Given the description of an element on the screen output the (x, y) to click on. 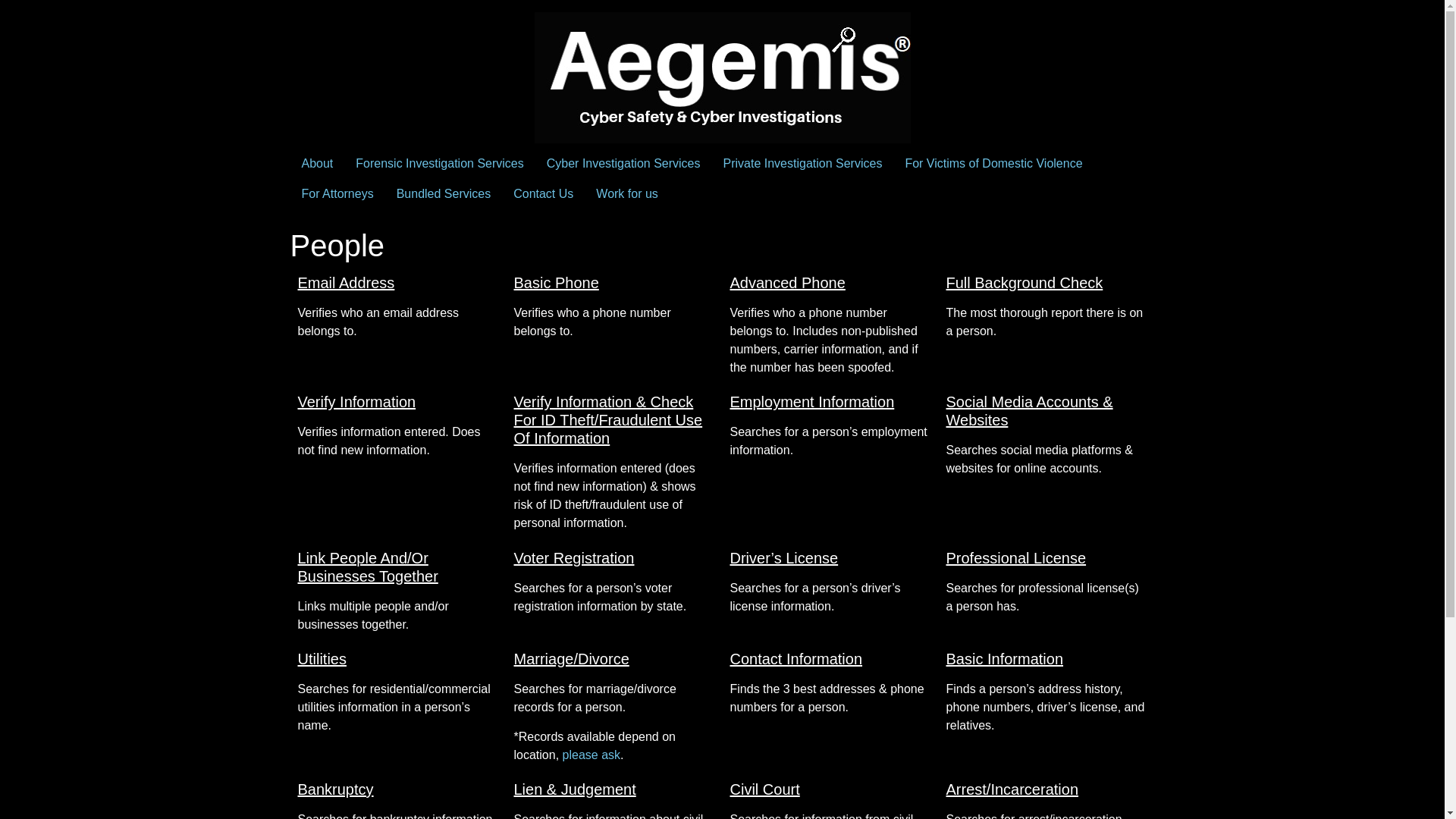
Forensic Investigation Services (438, 163)
Work for us (627, 194)
Private Investigation Services (802, 163)
Cyber Investigation Services (623, 163)
Contact Us (543, 194)
For Victims of Domestic Violence (993, 163)
For Attorneys (336, 194)
About (316, 163)
Bundled Services (443, 194)
please ask (591, 754)
